Given the description of an element on the screen output the (x, y) to click on. 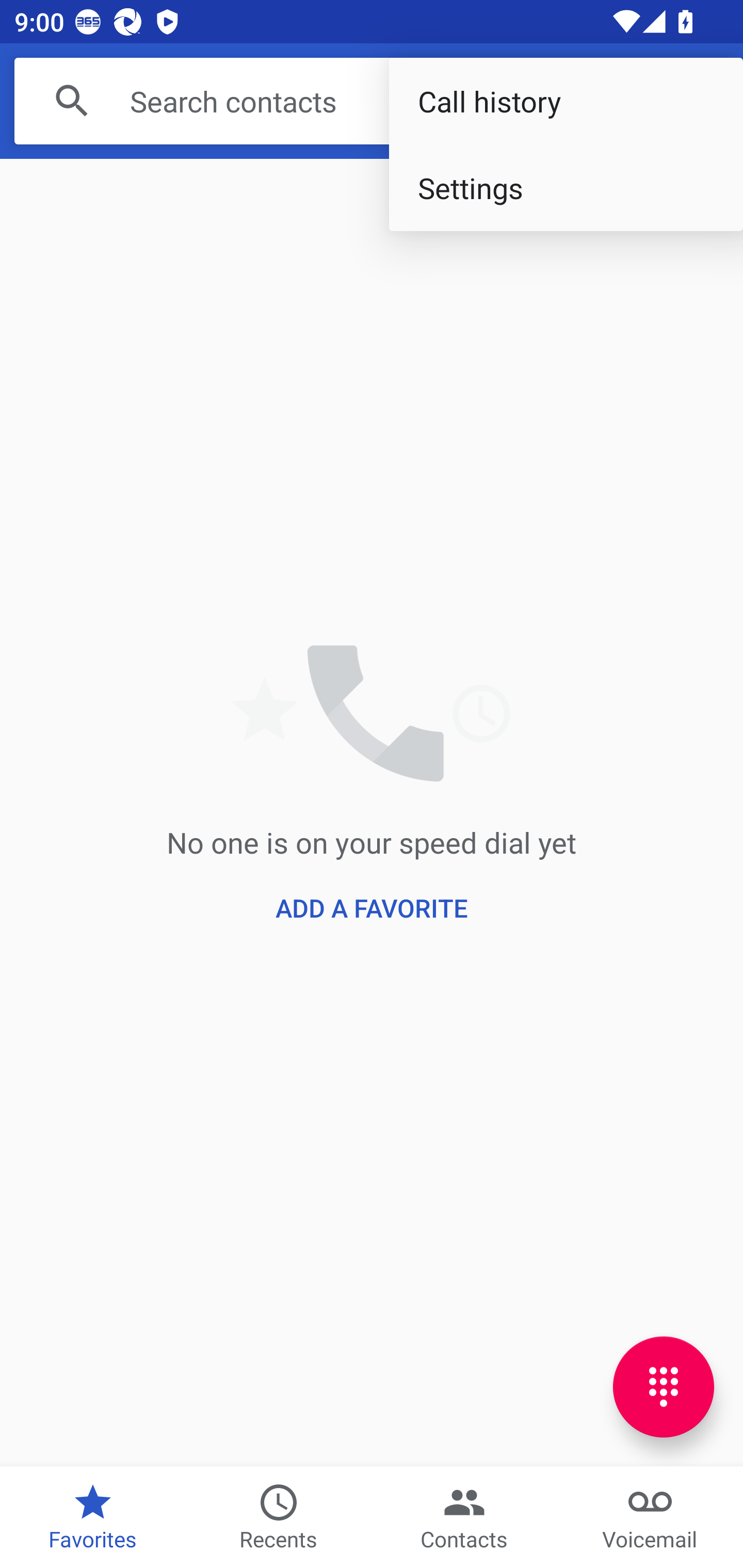
Call history (566, 101)
Settings (566, 187)
